Given the description of an element on the screen output the (x, y) to click on. 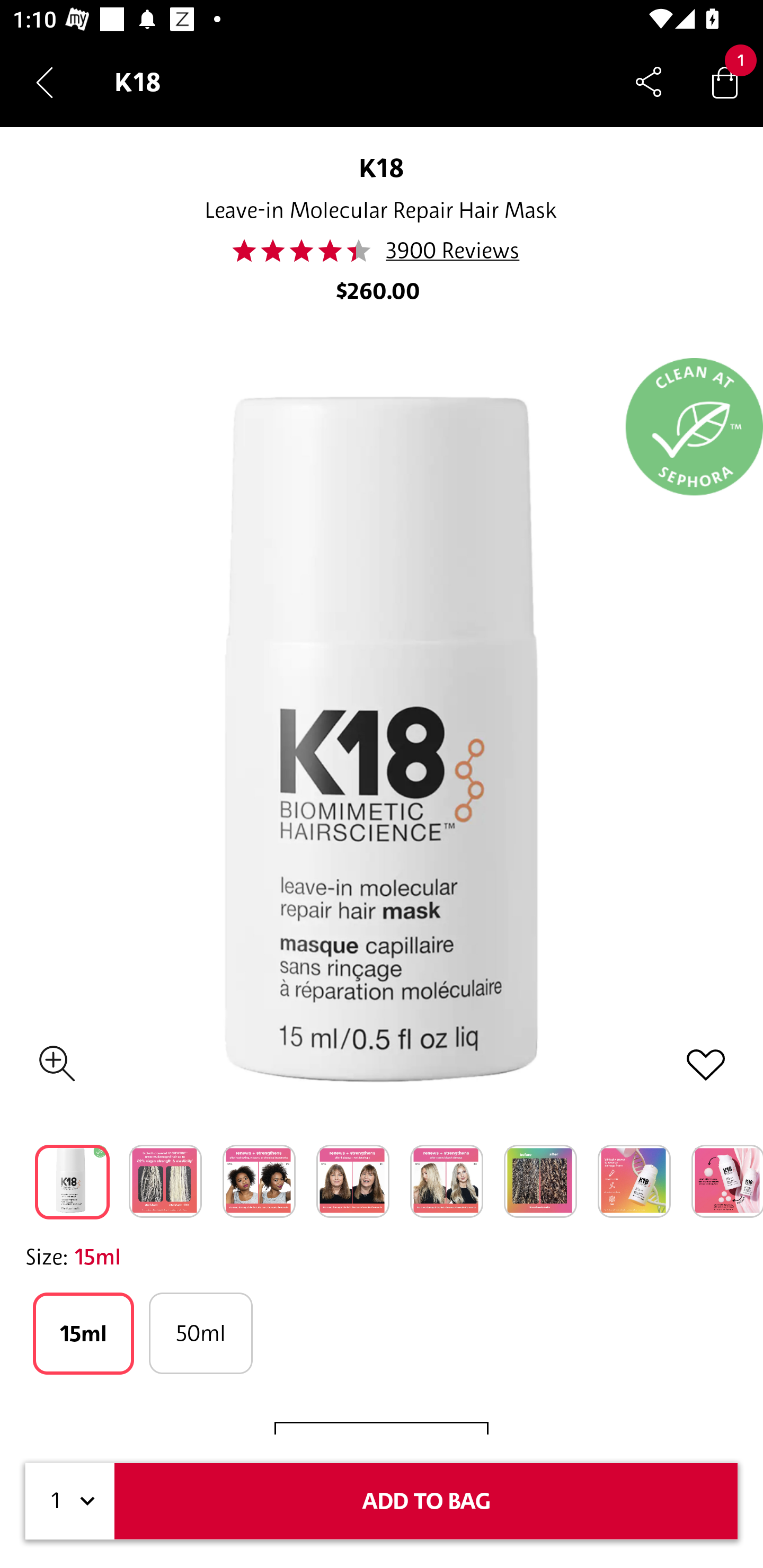
Navigate up (44, 82)
Share (648, 81)
Bag (724, 81)
K18 (381, 167)
44.0 3900 Reviews (380, 250)
15ml (83, 1333)
50ml (200, 1332)
1 (69, 1500)
ADD TO BAG (425, 1500)
